Given the description of an element on the screen output the (x, y) to click on. 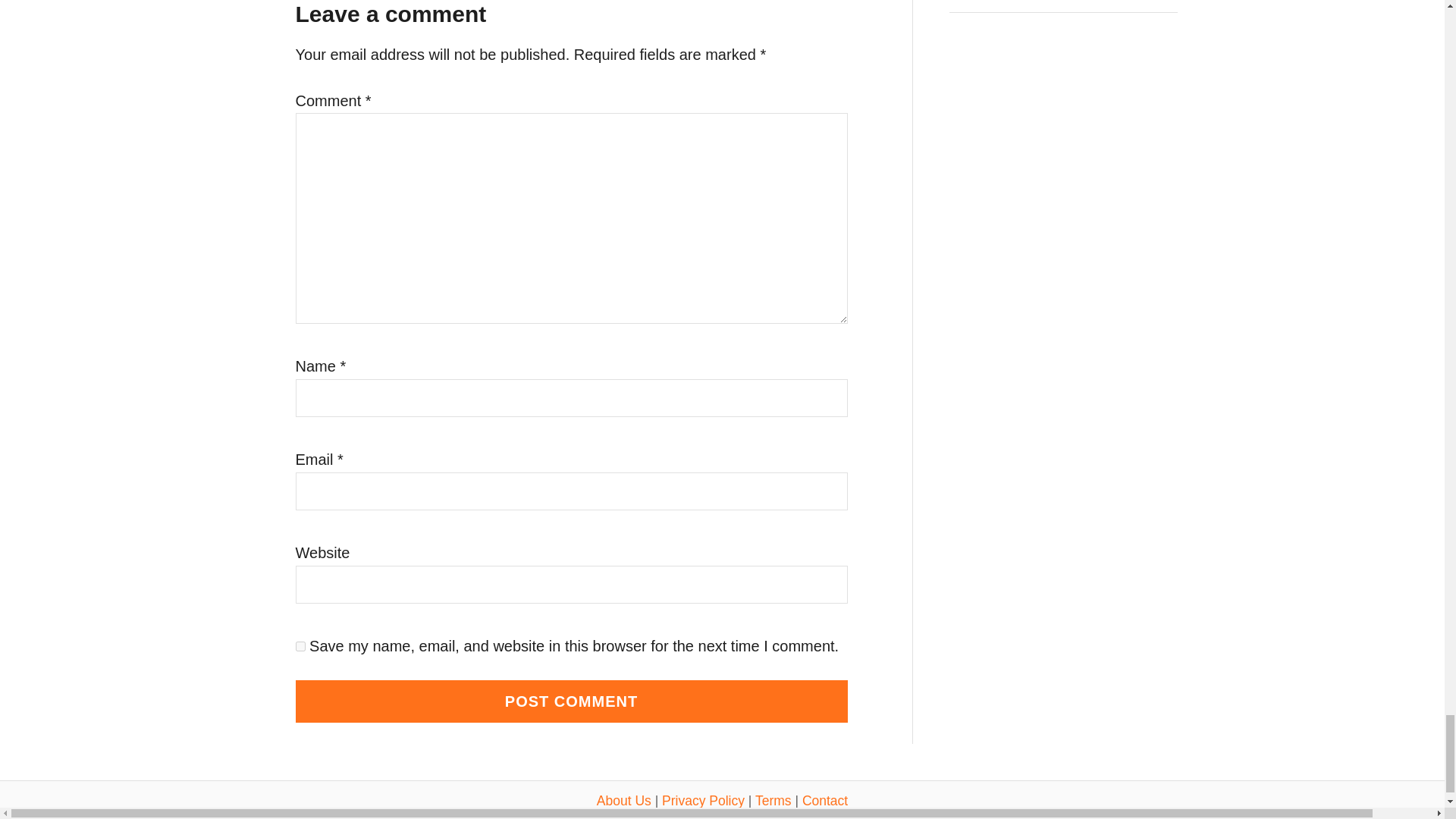
Contact (824, 800)
Terms (773, 800)
Post Comment (571, 701)
yes (300, 646)
Post Comment (571, 701)
Privacy Policy (703, 800)
About Us (623, 800)
